Given the description of an element on the screen output the (x, y) to click on. 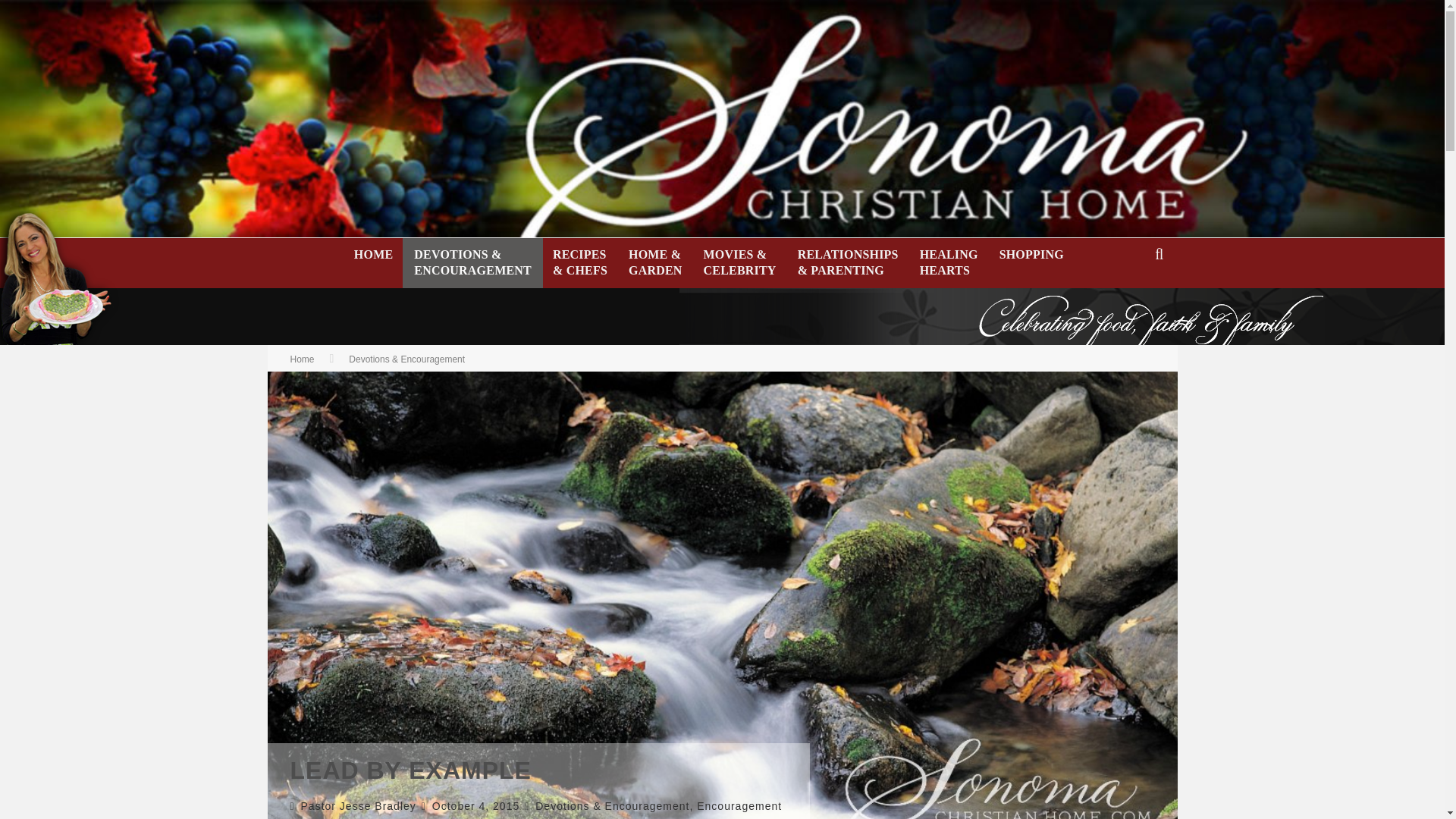
View all posts in Encouragement (739, 806)
